Given the description of an element on the screen output the (x, y) to click on. 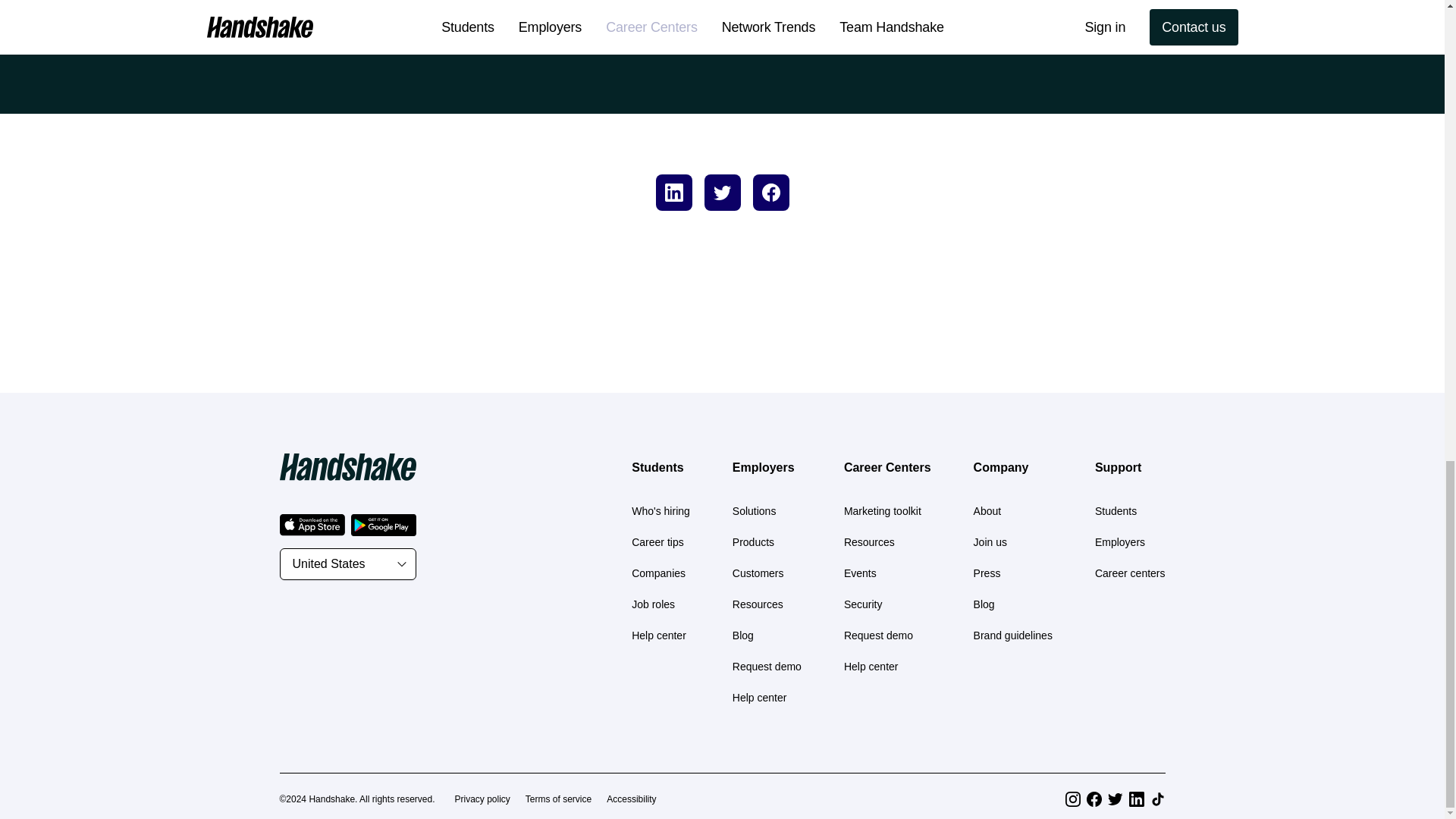
United States (346, 563)
Companies (658, 573)
Solutions (754, 510)
Download Android app (382, 525)
Instagram (1072, 798)
Job roles (653, 604)
Career tips (656, 541)
Customers (758, 573)
TikTok (1157, 798)
Download iOS pp (311, 525)
